Given the description of an element on the screen output the (x, y) to click on. 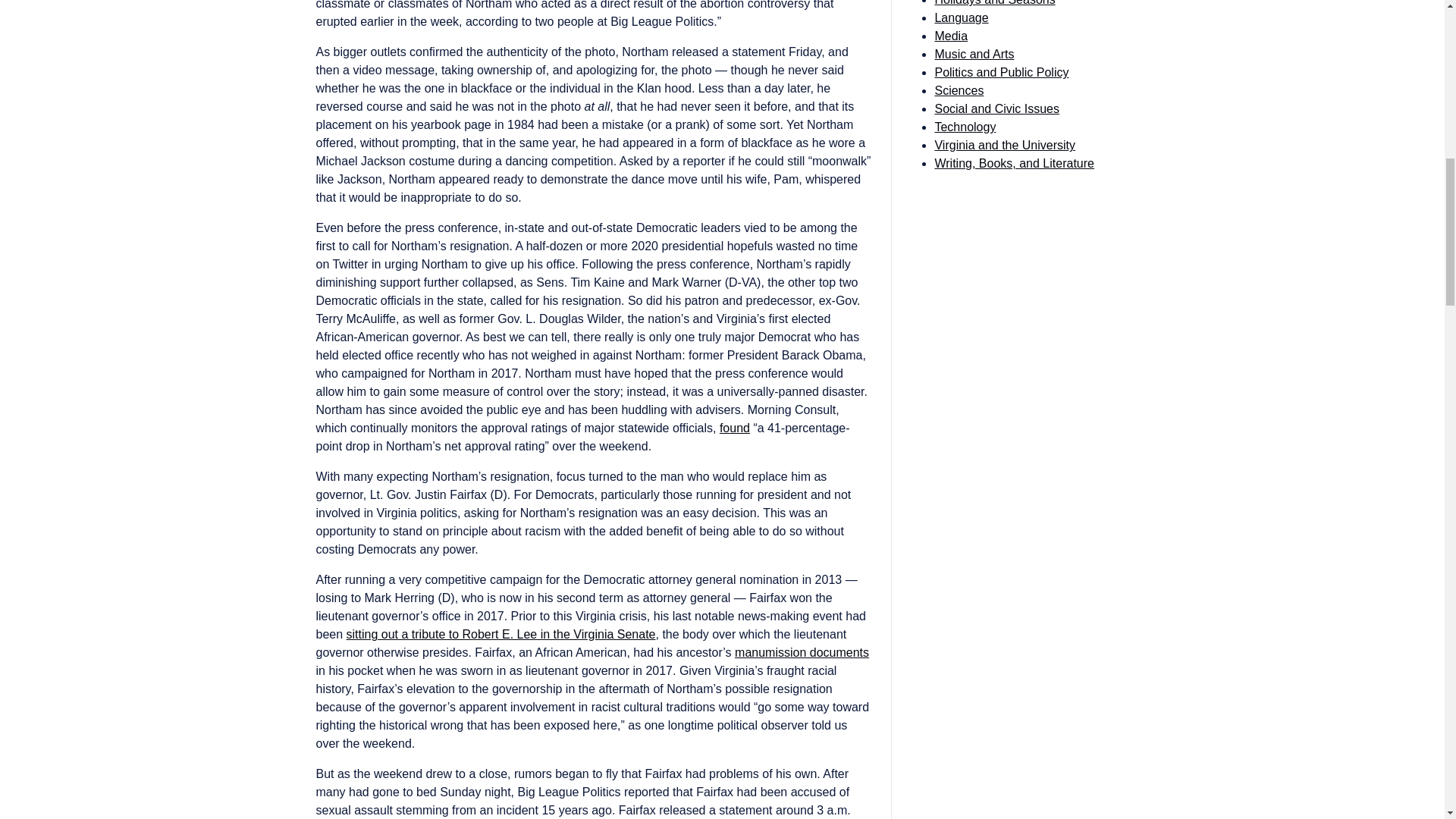
found (734, 427)
manumission documents (802, 652)
